Given the description of an element on the screen output the (x, y) to click on. 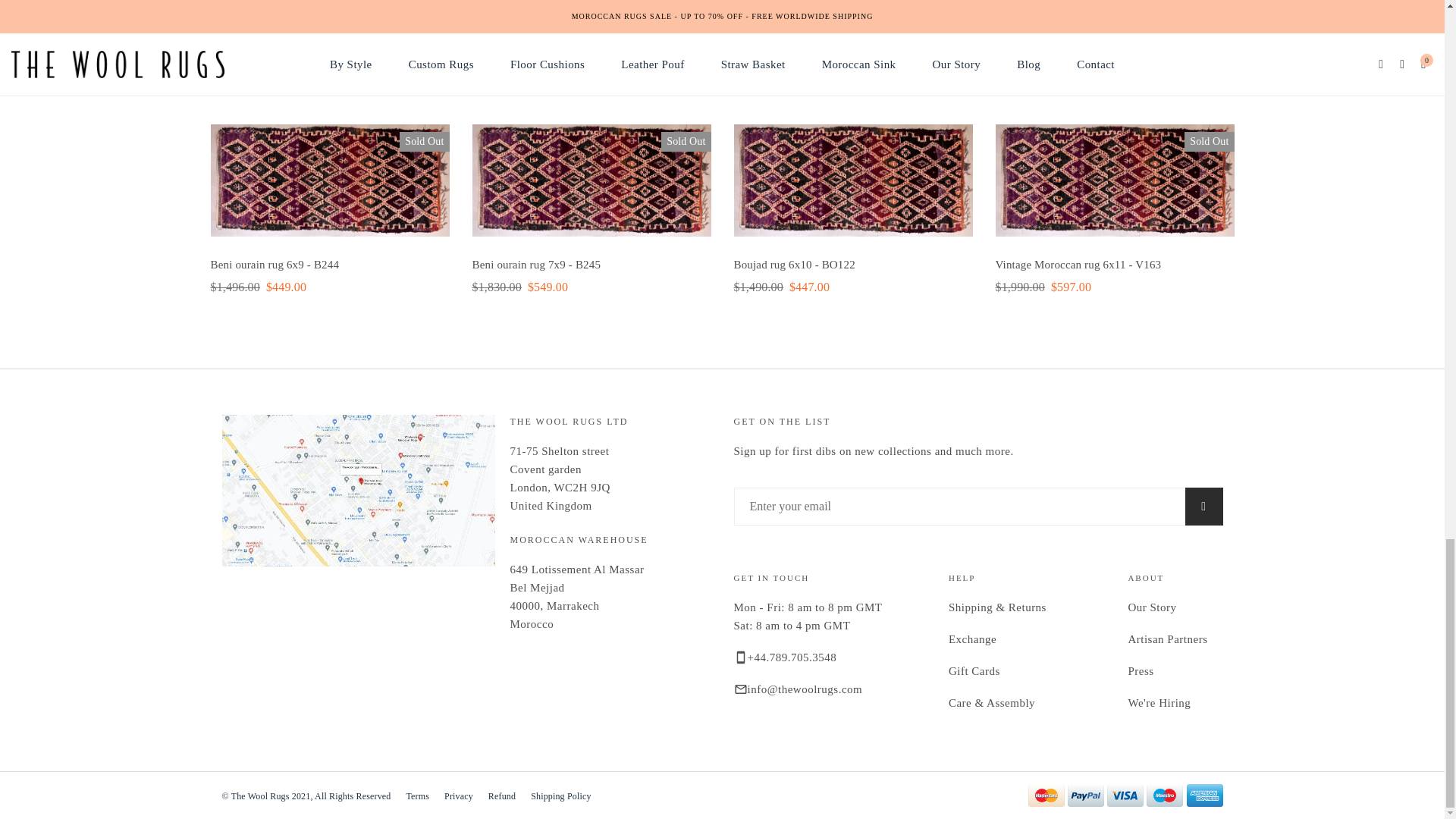
Boujad rug 6x10 - BO122 (794, 264)
Beni ourain rug 6x9 - B244 (275, 264)
Vintage Moroccan rug 6x11 - V163 (1077, 264)
Beni ourain rug 7x9 - B245 (535, 264)
